Given the description of an element on the screen output the (x, y) to click on. 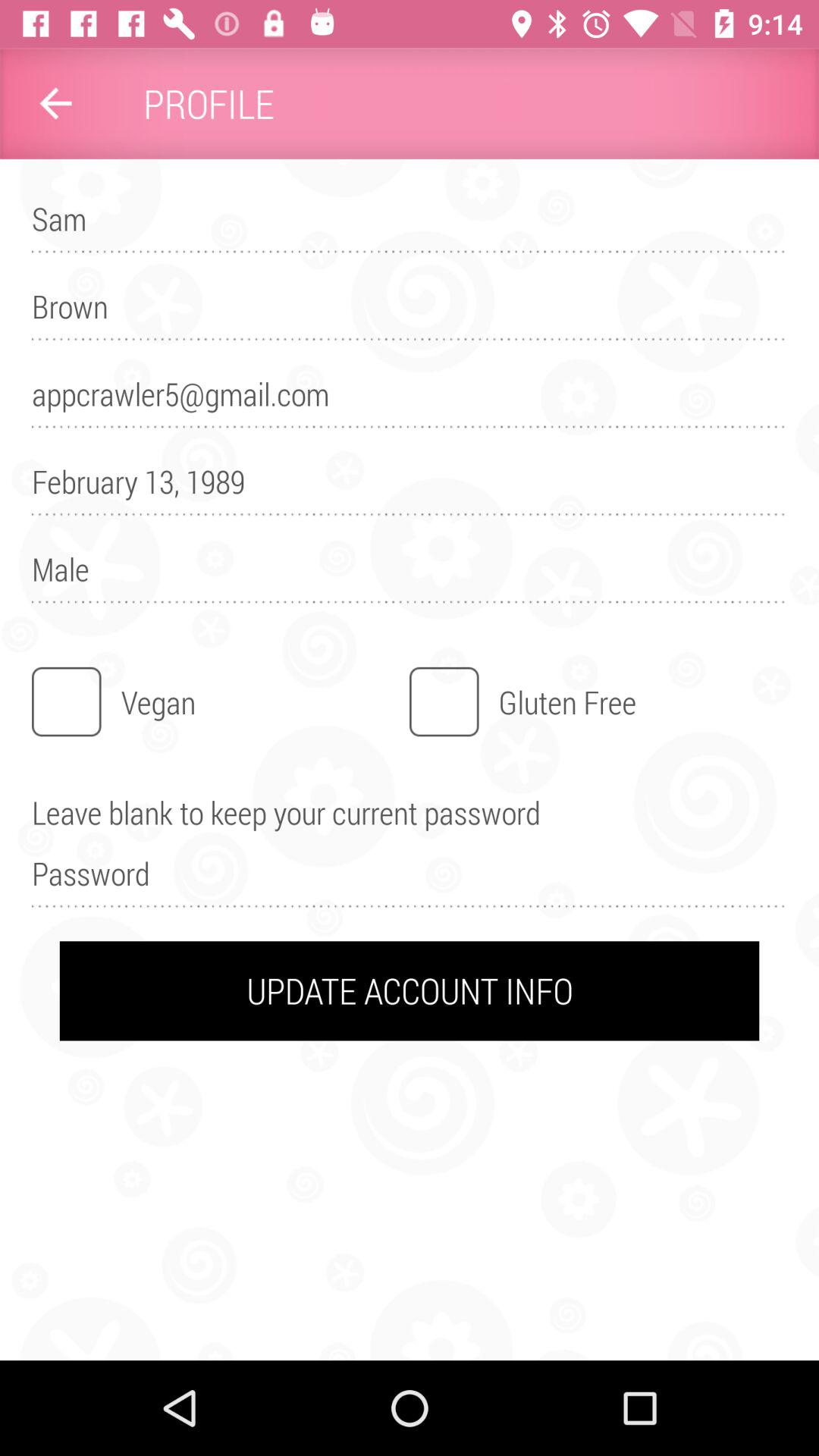
launch item to the left of profile item (55, 103)
